Given the description of an element on the screen output the (x, y) to click on. 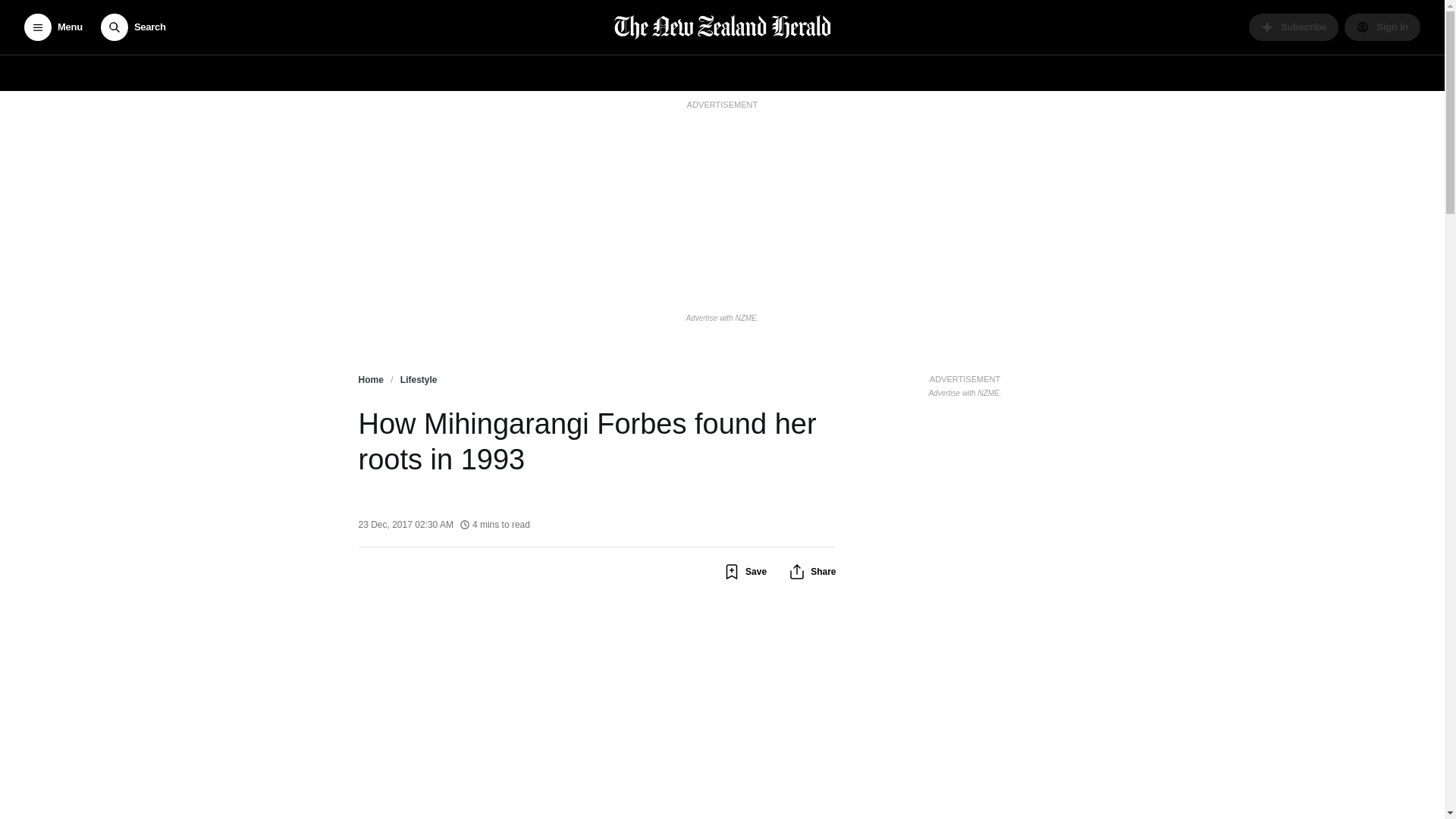
Manage your account (1382, 26)
Menu (53, 26)
Sign In (1382, 26)
Search (132, 26)
Subscribe (1294, 26)
